Given the description of an element on the screen output the (x, y) to click on. 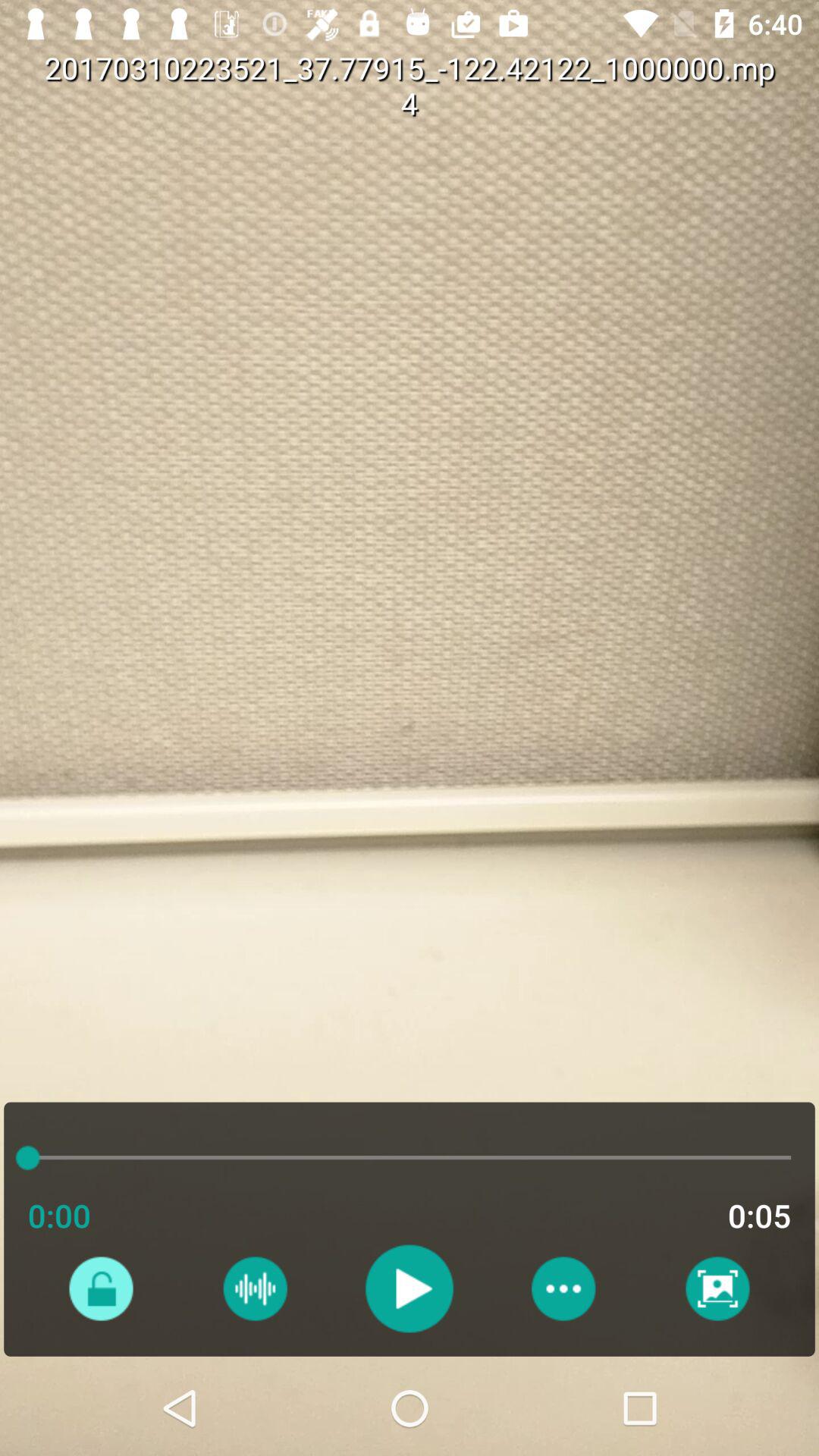
play button (409, 1288)
